Given the description of an element on the screen output the (x, y) to click on. 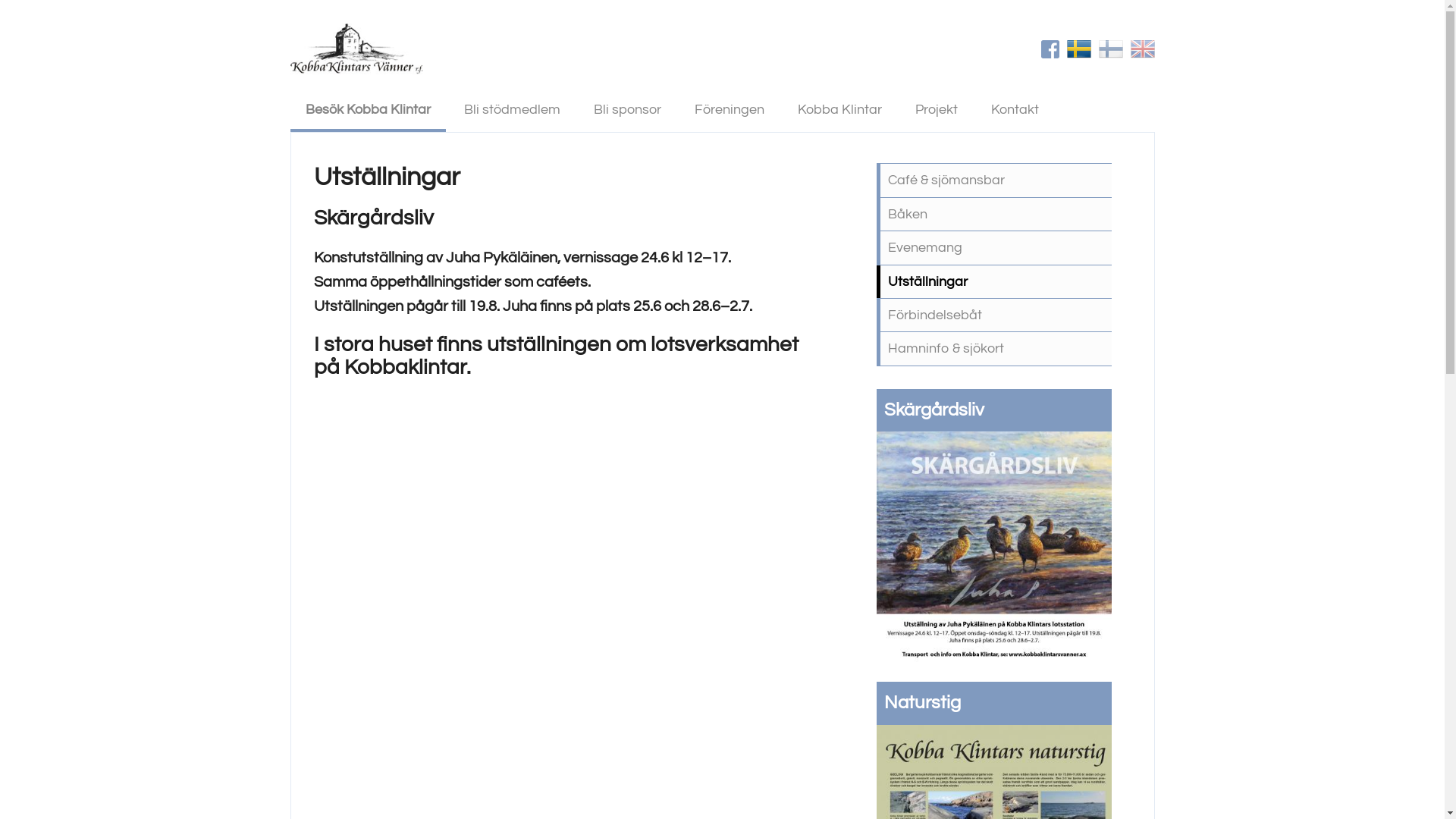
Bli sponsor Element type: text (626, 109)
Projekt Element type: text (935, 109)
Kontakt Element type: text (1014, 109)
Svenska Element type: hover (1078, 49)
Kobba Klintar Element type: text (839, 109)
Evenemang Element type: text (993, 247)
English Element type: hover (1141, 49)
Suomi Element type: hover (1110, 49)
